Given the description of an element on the screen output the (x, y) to click on. 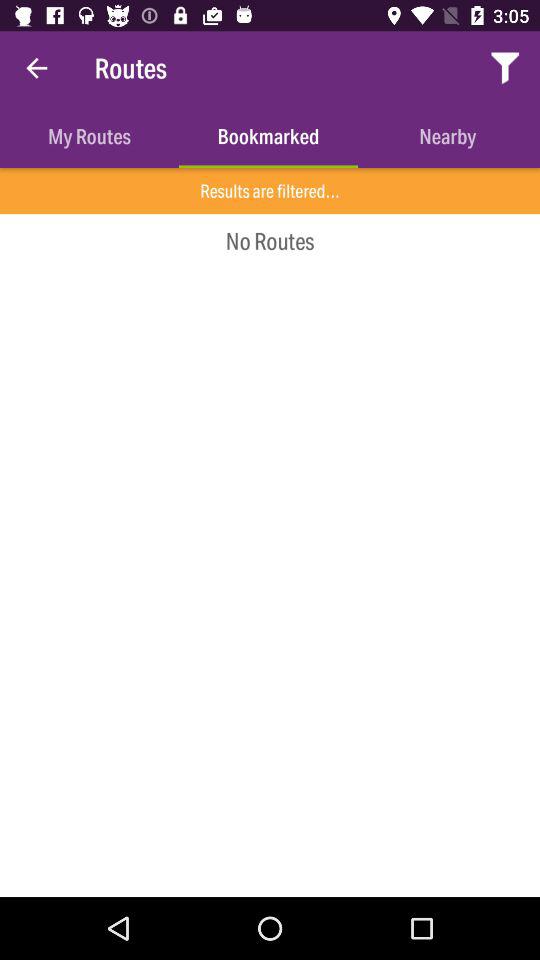
choose the item above the nearby (505, 67)
